Given the description of an element on the screen output the (x, y) to click on. 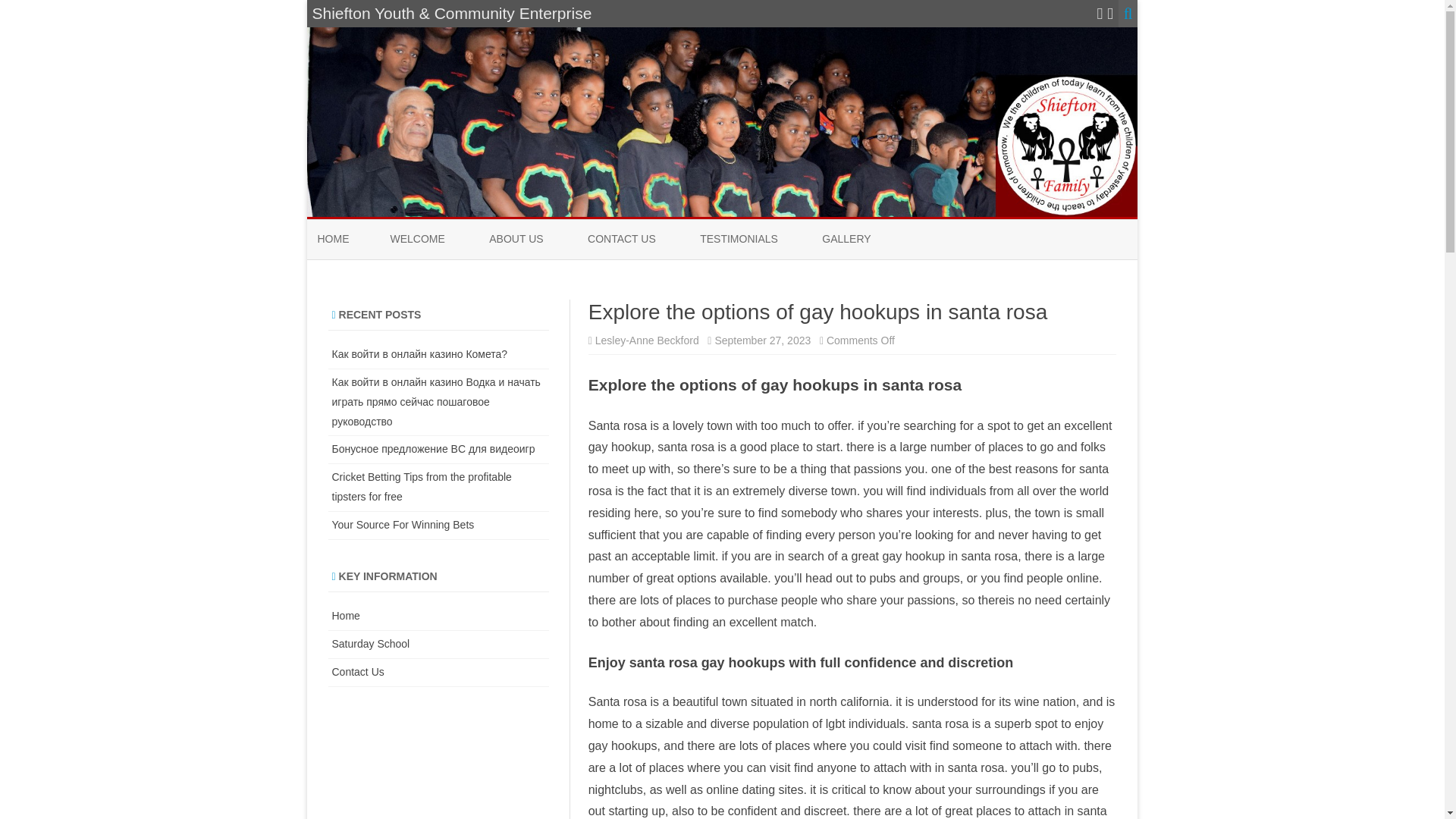
ABOUT US (516, 239)
TESTIMONIALS (738, 239)
Your Source For Winning Bets (402, 524)
Lesley-Anne Beckford (646, 340)
CONTACT US (622, 239)
WELCOME (417, 239)
GALLERY (846, 239)
Contact Us (357, 671)
